Given the description of an element on the screen output the (x, y) to click on. 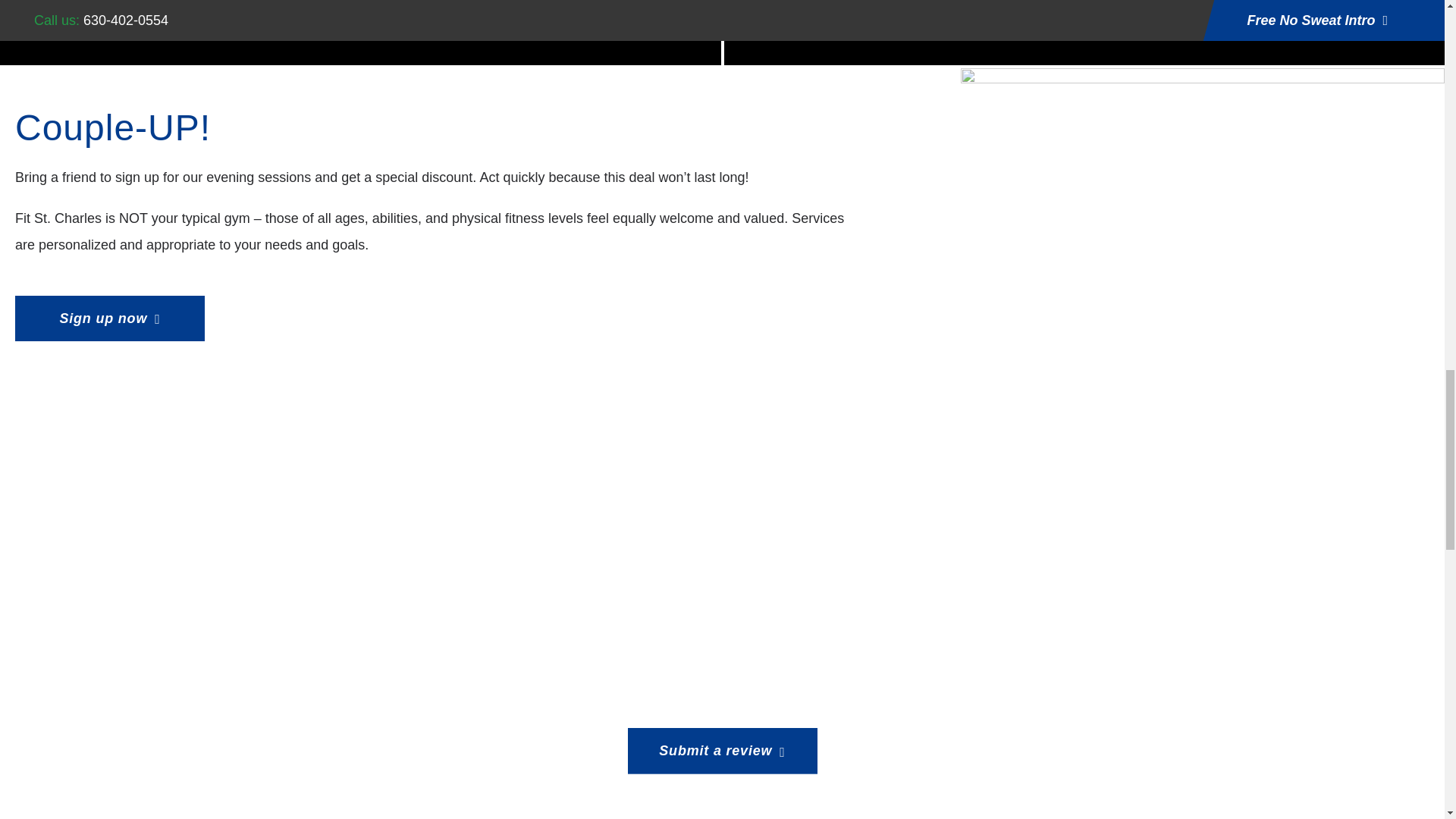
Sign up now (109, 318)
Submit a review (721, 750)
